Given the description of an element on the screen output the (x, y) to click on. 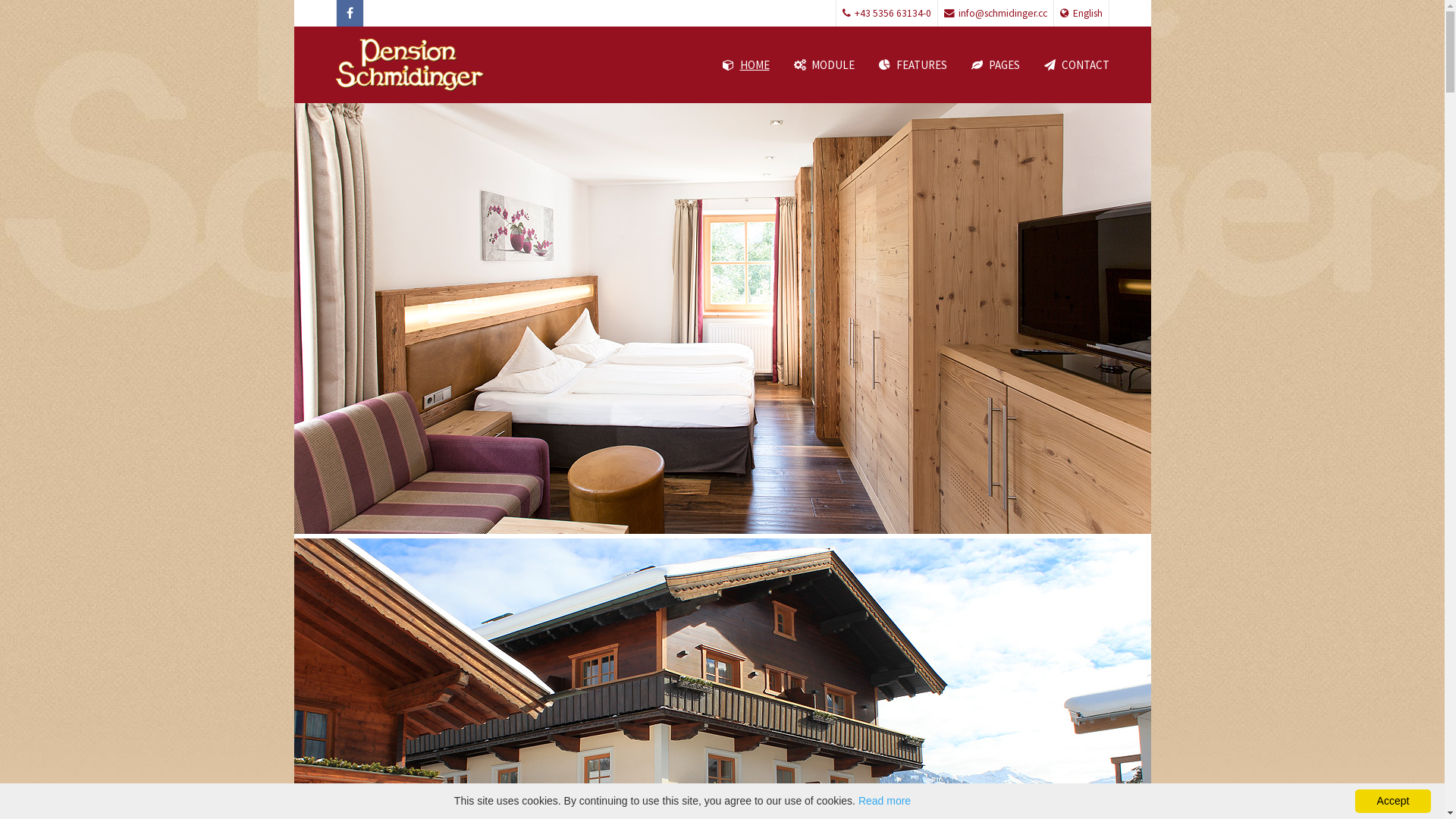
HOME Element type: text (745, 65)
FEATURES Element type: text (912, 65)
Read more Element type: text (884, 800)
PAGES Element type: text (994, 65)
MODULE Element type: text (823, 65)
CONTACT Element type: text (1070, 65)
info@schmidinger.cc Element type: text (995, 13)
